Given the description of an element on the screen output the (x, y) to click on. 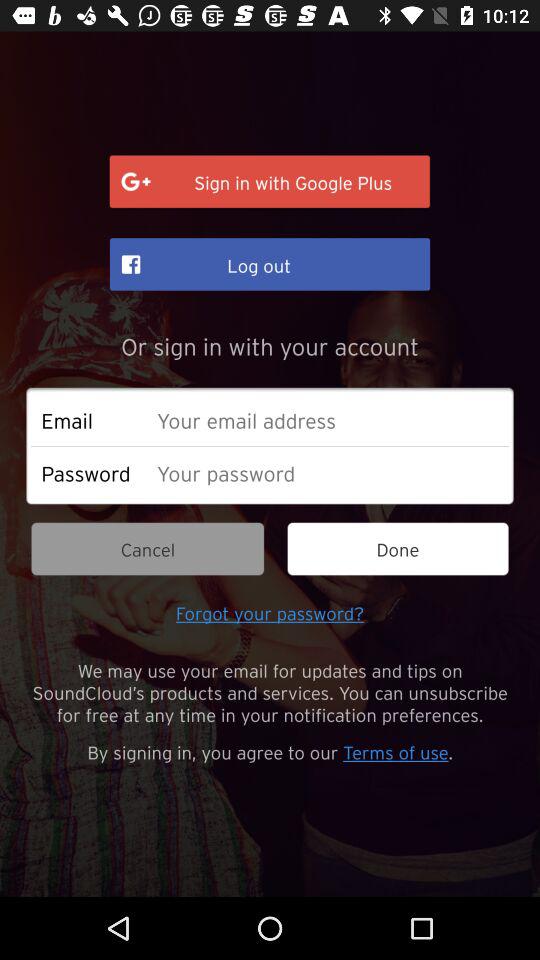
enter e-mail address (327, 420)
